Given the description of an element on the screen output the (x, y) to click on. 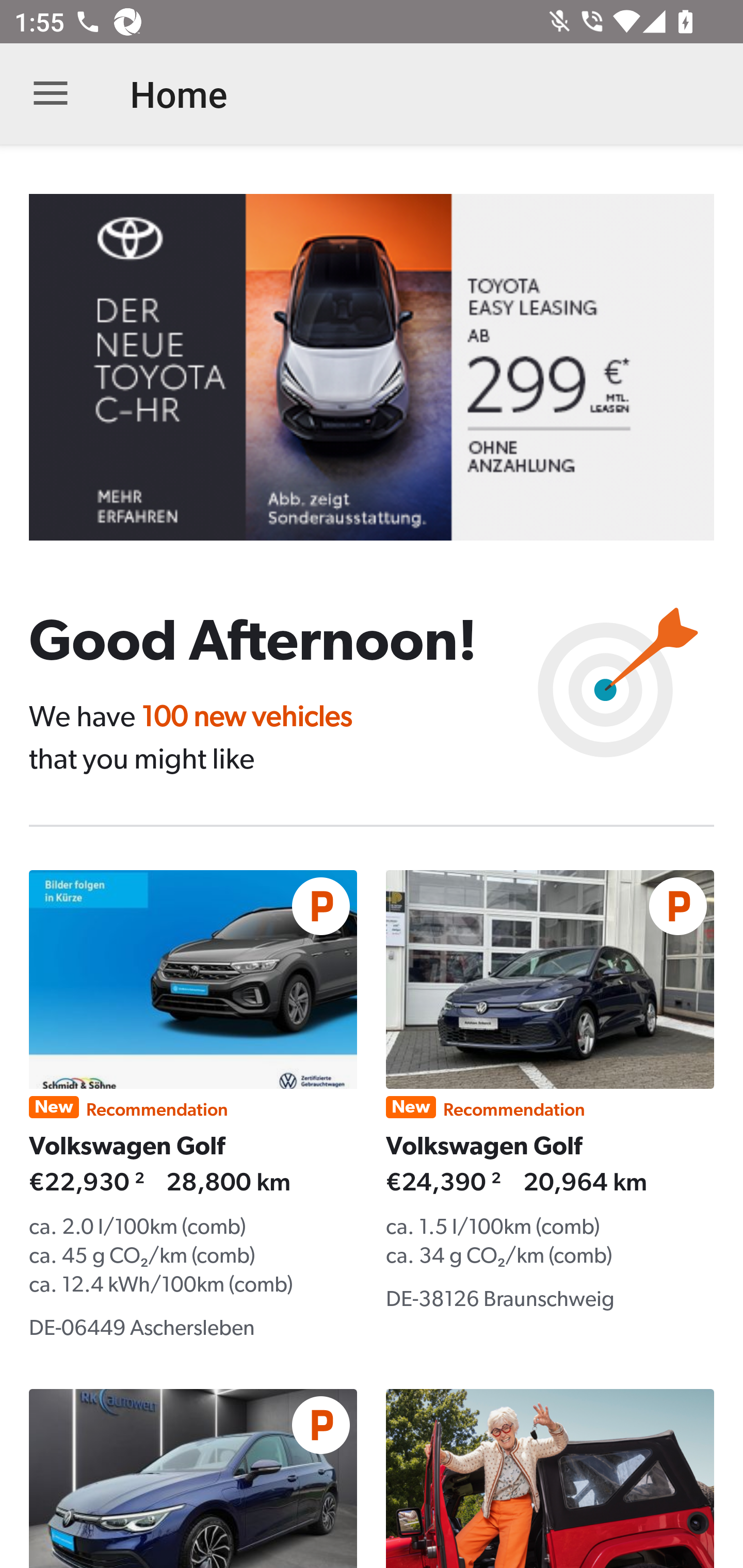
Open navigation bar (50, 93)
B31340770 (385, 367)
